Given the description of an element on the screen output the (x, y) to click on. 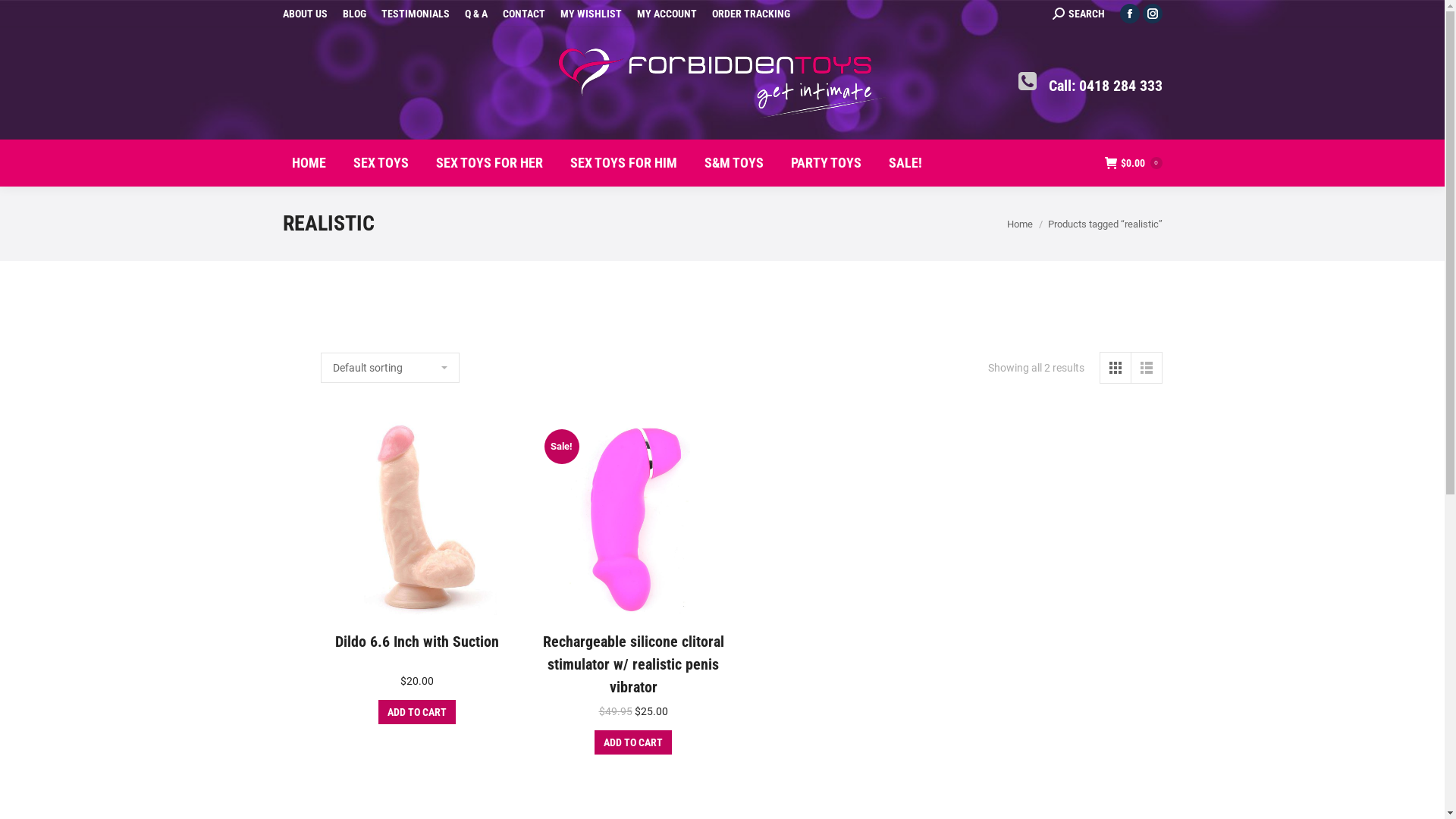
S&M TOYS Element type: text (732, 162)
Home Element type: text (1019, 223)
MY ACCOUNT Element type: text (666, 13)
SALE! Element type: text (905, 162)
Q & A Element type: text (475, 13)
ORDER TRACKING Element type: text (750, 13)
Go! Element type: text (22, 15)
Facebook Element type: text (1129, 13)
ADD TO CART Element type: text (632, 742)
Instagram Element type: text (1151, 13)
ABOUT US Element type: text (304, 13)
CONTACT Element type: text (523, 13)
SEX TOYS FOR HIM Element type: text (623, 162)
HOME Element type: text (308, 162)
BLOG Element type: text (354, 13)
SEX TOYS FOR HER Element type: text (488, 162)
SEARCH Element type: text (1078, 13)
Dildo 6.6 Inch with Suction Element type: text (416, 641)
MY WISHLIST Element type: text (590, 13)
TESTIMONIALS Element type: text (414, 13)
$0.00
0 Element type: text (1132, 162)
ADD TO CART Element type: text (416, 711)
SEX TOYS Element type: text (380, 162)
PARTY TOYS Element type: text (825, 162)
